Given the description of an element on the screen output the (x, y) to click on. 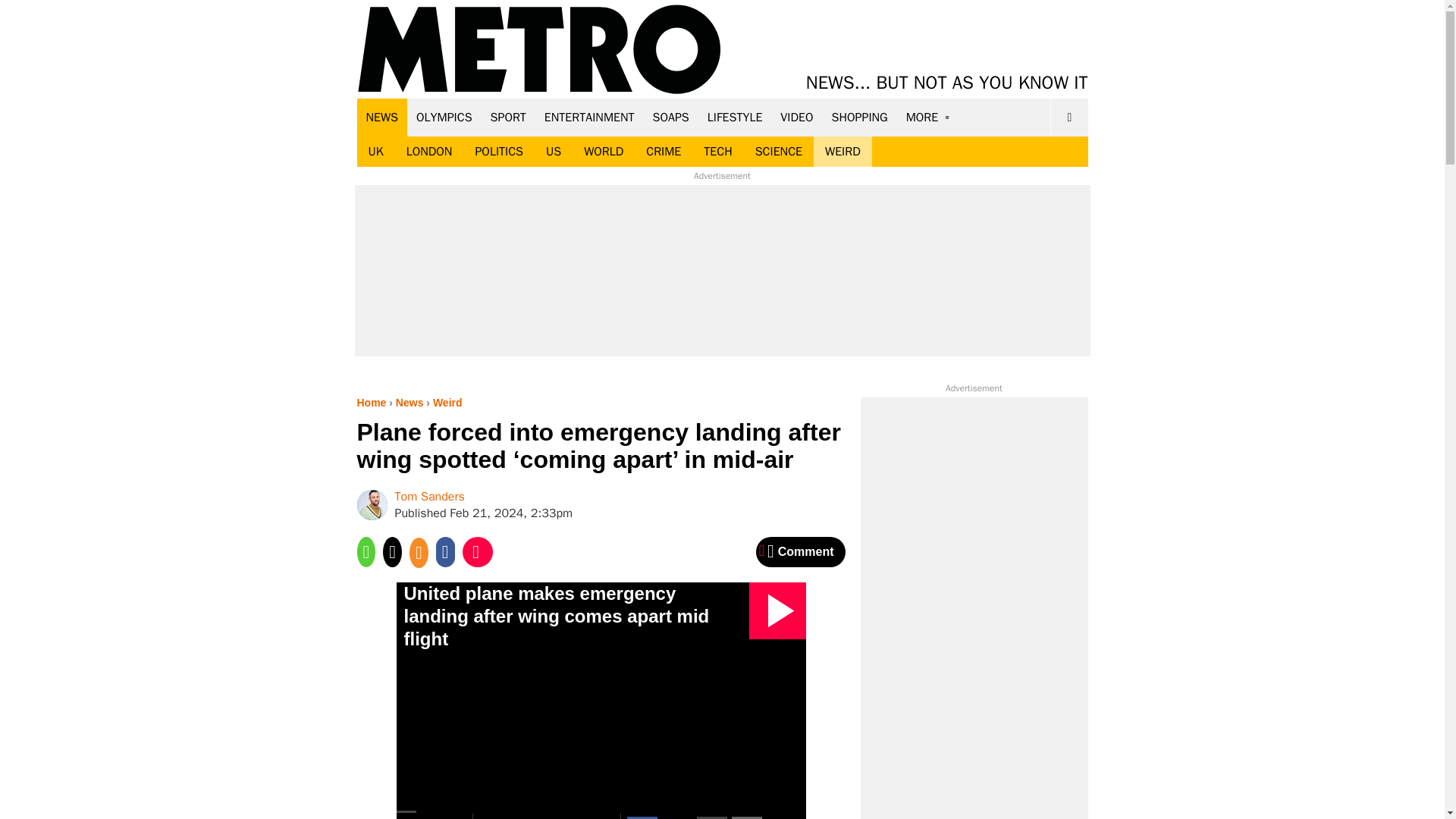
LIFESTYLE (734, 117)
SOAPS (670, 117)
SPORT (508, 117)
CRIME (663, 151)
LONDON (429, 151)
US (553, 151)
WEIRD (842, 151)
UK (375, 151)
TECH (717, 151)
OLYMPICS (444, 117)
WORLD (603, 151)
ENTERTAINMENT (589, 117)
POLITICS (498, 151)
Play (414, 816)
Play Video (777, 610)
